Given the description of an element on the screen output the (x, y) to click on. 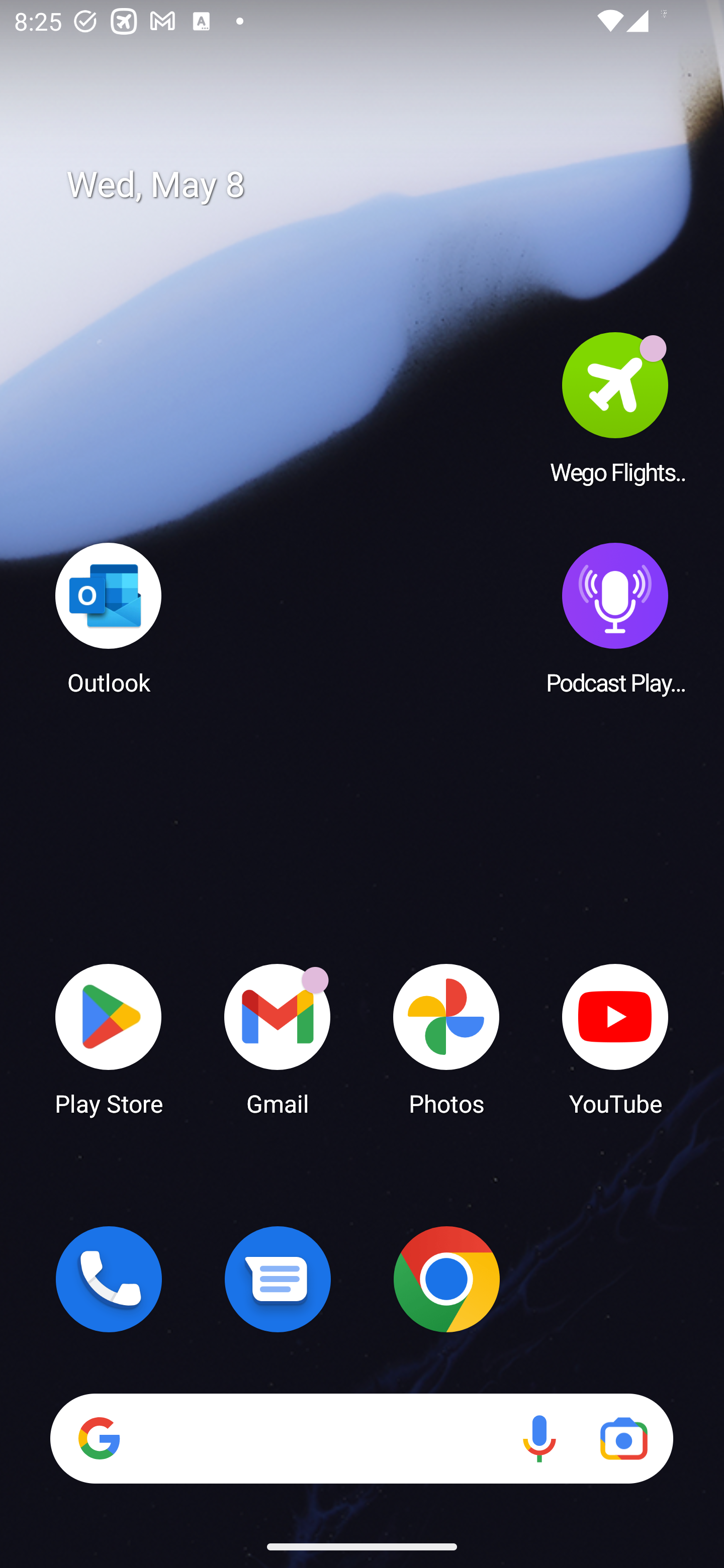
Wed, May 8 (375, 184)
Outlook (108, 617)
Podcast Player (615, 617)
Play Store (108, 1038)
Gmail Gmail has 17 notifications (277, 1038)
Photos (445, 1038)
YouTube (615, 1038)
Phone (108, 1279)
Messages (277, 1279)
Chrome (446, 1279)
Search Voice search Google Lens (361, 1438)
Voice search (539, 1438)
Google Lens (623, 1438)
